Given the description of an element on the screen output the (x, y) to click on. 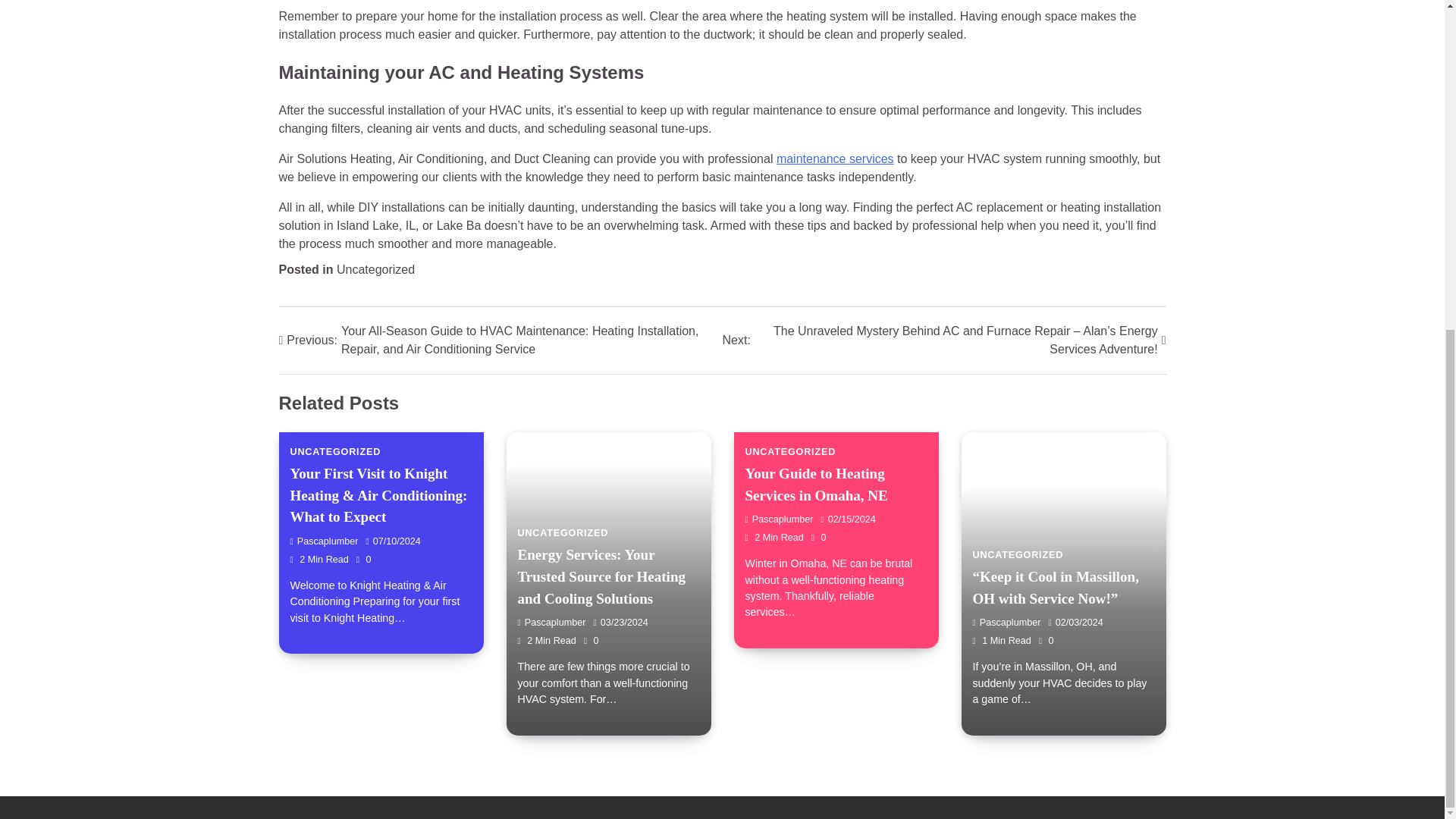
Pascaplumber (778, 519)
UNCATEGORIZED (1017, 554)
UNCATEGORIZED (562, 532)
Pascaplumber (1006, 622)
Uncategorized (375, 269)
Pascaplumber (323, 541)
maintenance services (834, 158)
Pascaplumber (550, 622)
UNCATEGORIZED (789, 451)
Your Guide to Heating Services in Omaha, NE (815, 484)
UNCATEGORIZED (334, 451)
